Given the description of an element on the screen output the (x, y) to click on. 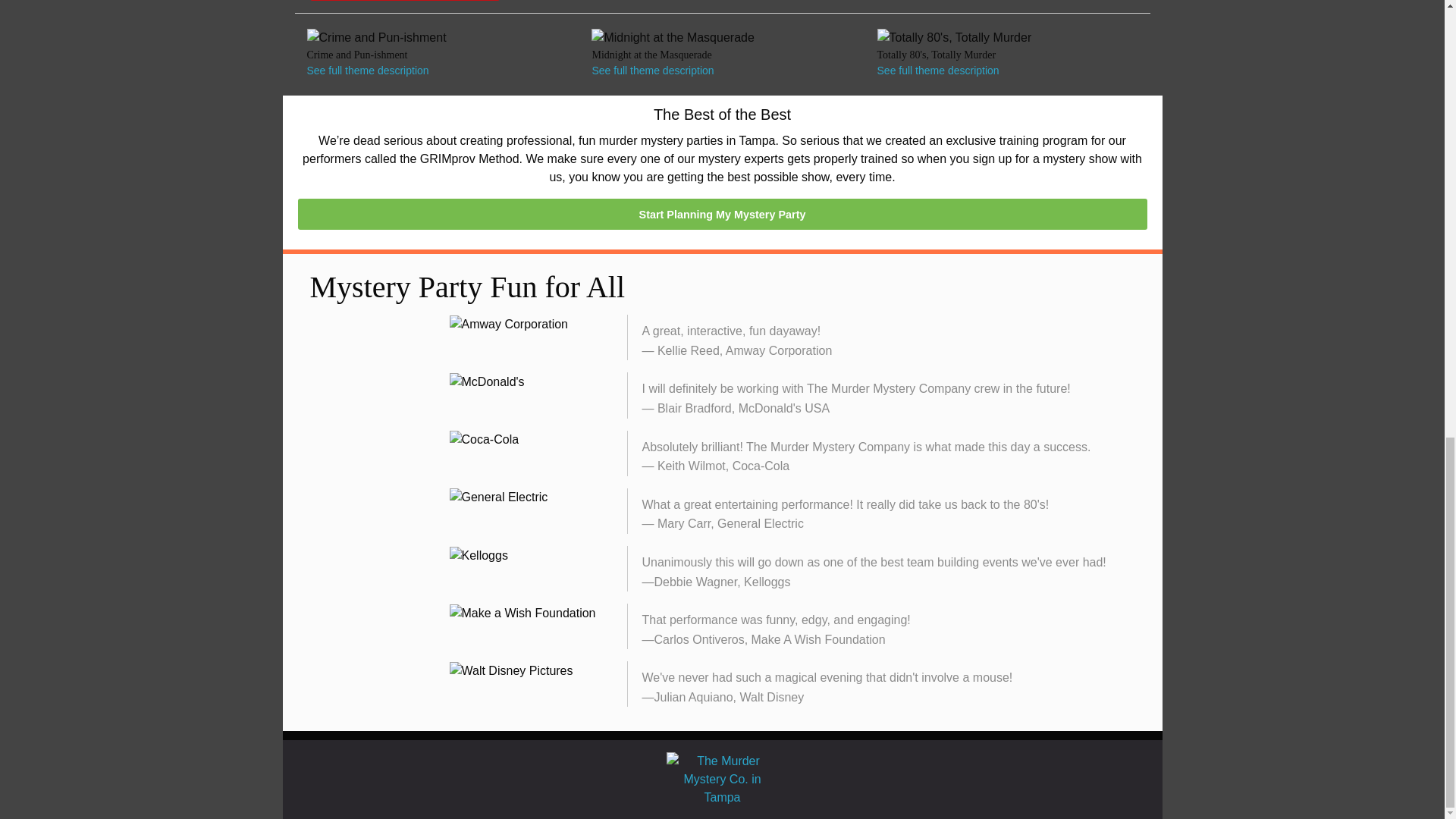
See full theme description (652, 70)
The Murder Mystery Co. in Tampa (721, 779)
Start Planning My Mystery Party (722, 214)
See full theme description (937, 70)
See full theme description (366, 70)
